Given the description of an element on the screen output the (x, y) to click on. 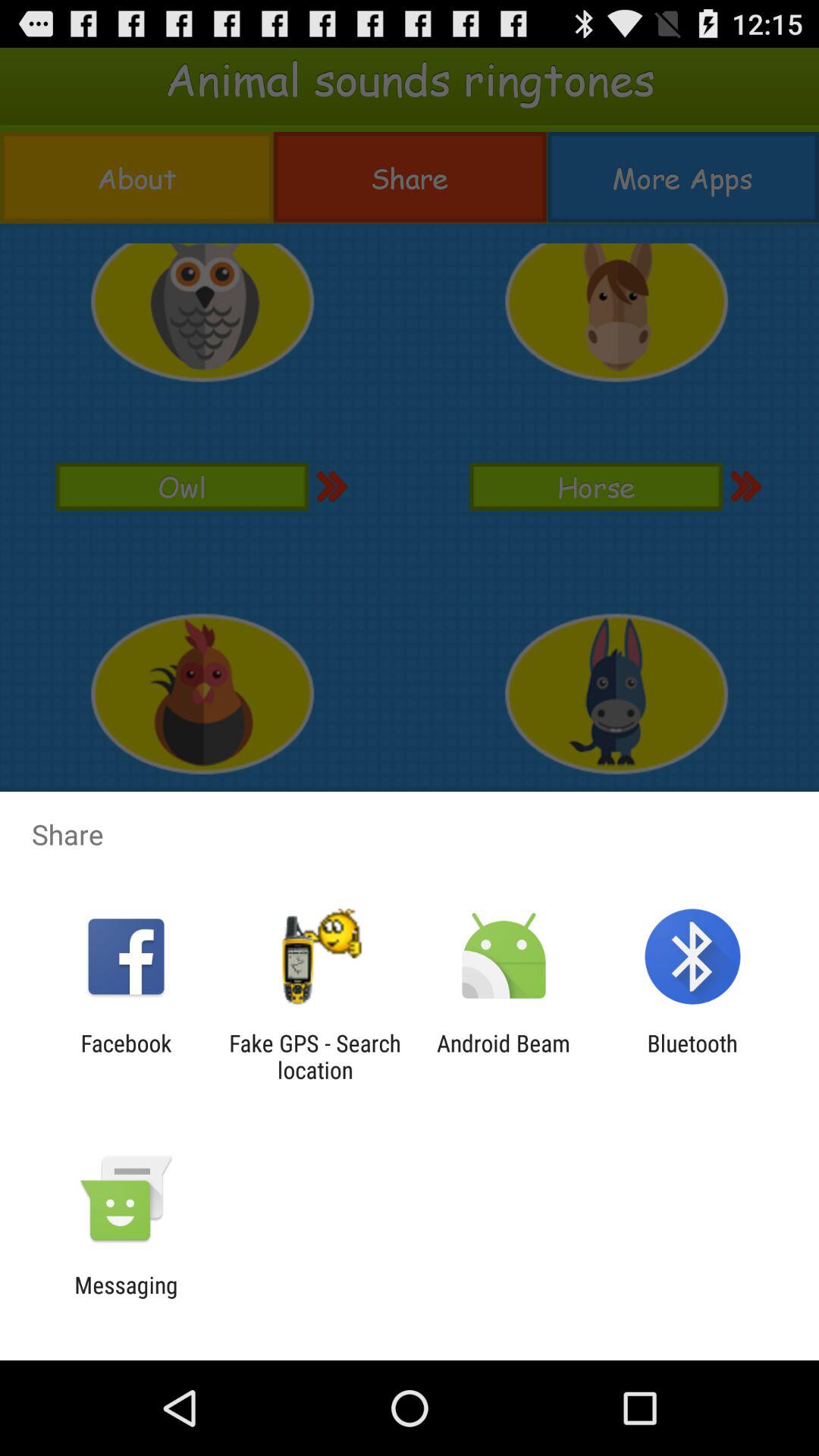
launch the bluetooth at the bottom right corner (692, 1056)
